Given the description of an element on the screen output the (x, y) to click on. 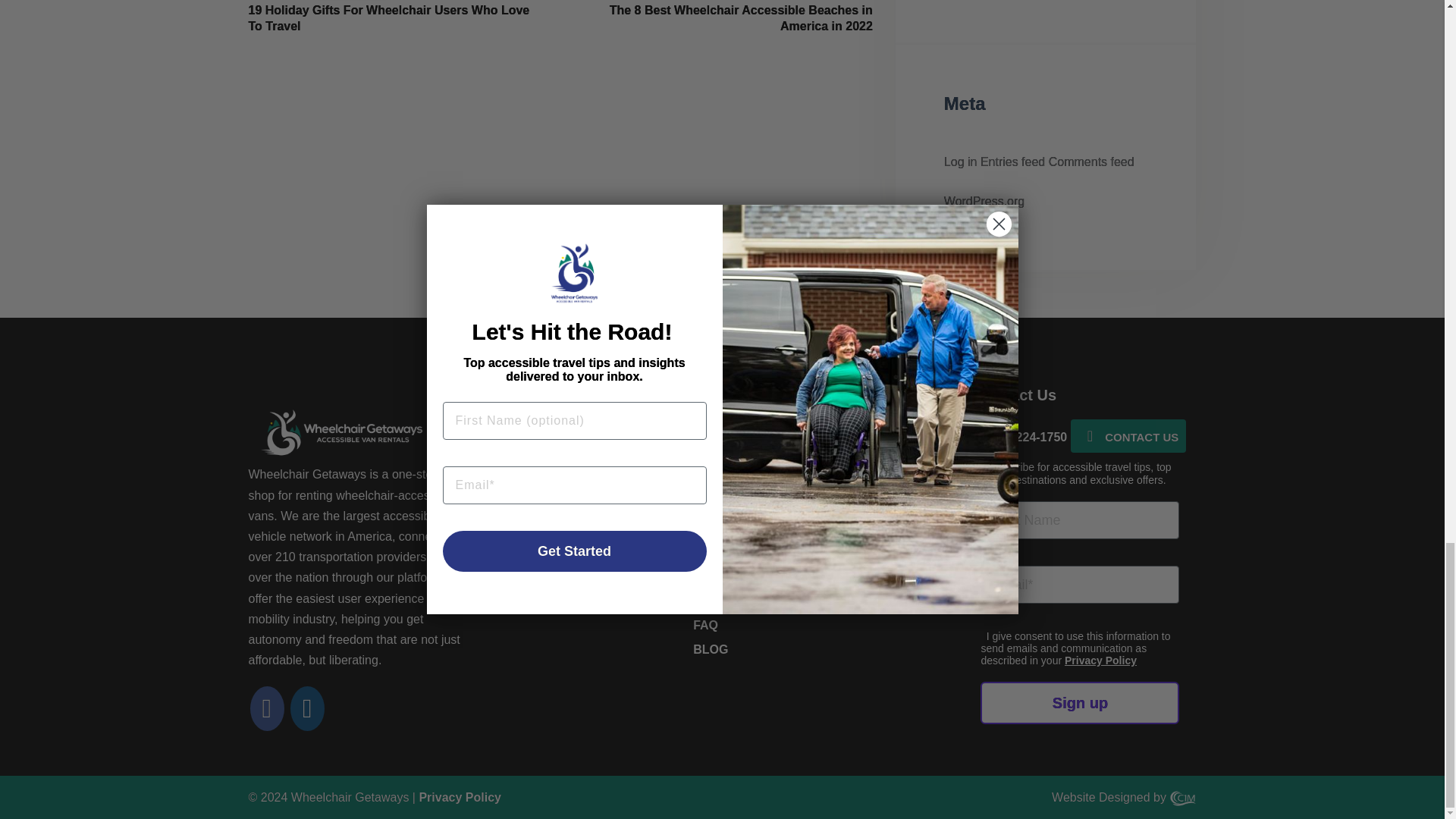
Facebook (266, 712)
Instagram (307, 712)
